Given the description of an element on the screen output the (x, y) to click on. 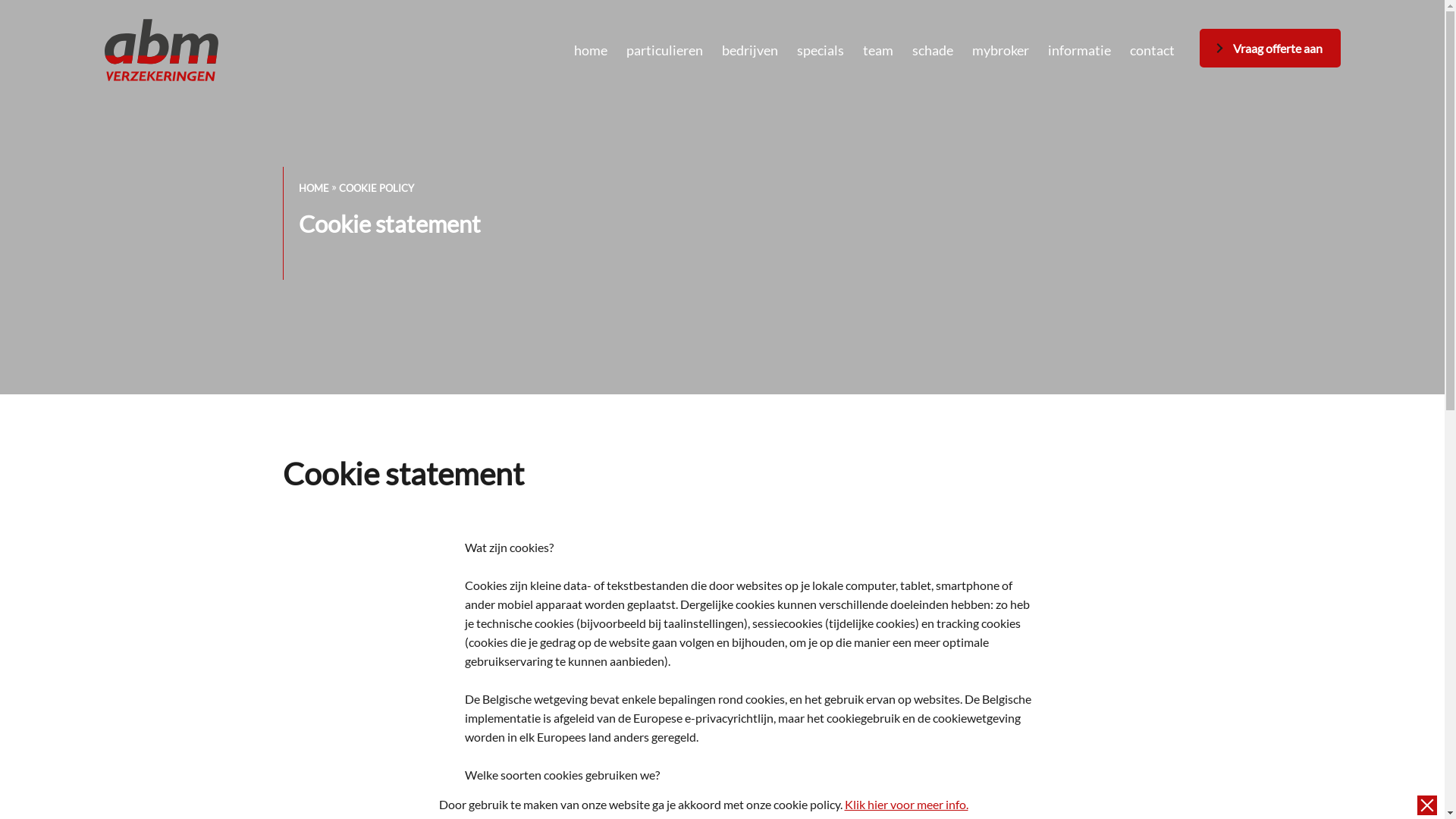
specials Element type: text (819, 49)
X Element type: text (1427, 805)
contact Element type: text (1151, 49)
informatie Element type: text (1079, 49)
schade Element type: text (931, 49)
Vraag offerte aan Element type: text (1269, 47)
team Element type: text (877, 49)
Klik hier voor meer info. Element type: text (906, 804)
particulieren Element type: text (664, 49)
bedrijven Element type: text (749, 49)
mybroker Element type: text (1000, 49)
HOME Element type: text (313, 188)
home Element type: text (589, 49)
